Given the description of an element on the screen output the (x, y) to click on. 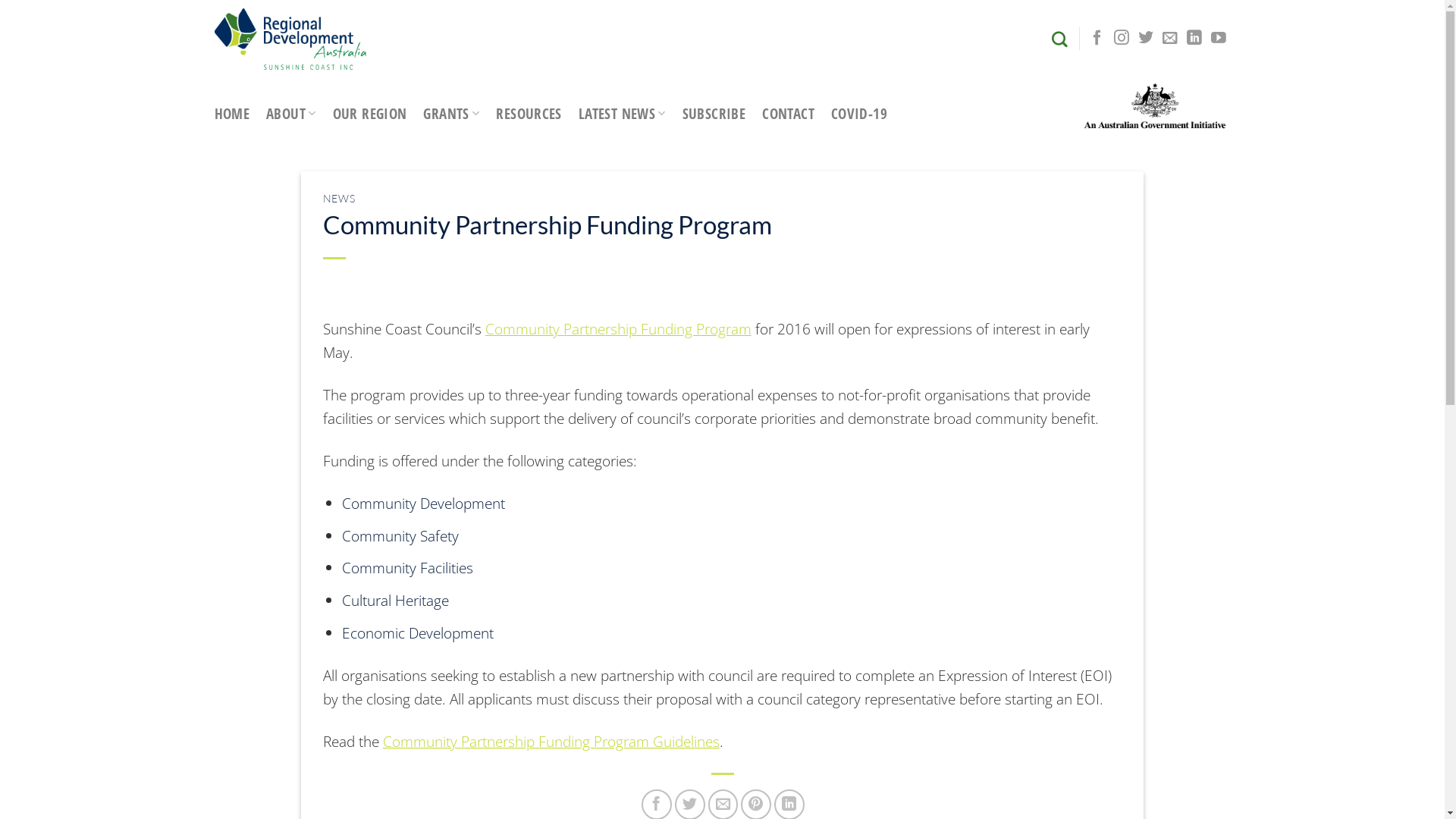
SUBSCRIBE Element type: text (714, 113)
HOME Element type: text (231, 113)
Regional Development Australia Sunshine Coast Element type: hover (289, 38)
NEWS Element type: text (339, 197)
Community Safety Element type: text (400, 535)
LATEST NEWS Element type: text (621, 113)
RESOURCES Element type: text (528, 113)
CONTACT Element type: text (788, 113)
OUR REGION Element type: text (369, 113)
Cultural Heritage Element type: text (395, 599)
Community Development Element type: text (423, 502)
ABOUT Element type: text (291, 113)
Economic Development Element type: text (417, 632)
Community Partnership Funding Program Element type: text (618, 328)
GRANTS Element type: text (451, 113)
COVID-19 Element type: text (859, 113)
Community Partnership Funding Program Guidelines Element type: text (550, 741)
Community Facilities Element type: text (407, 567)
